Given the description of an element on the screen output the (x, y) to click on. 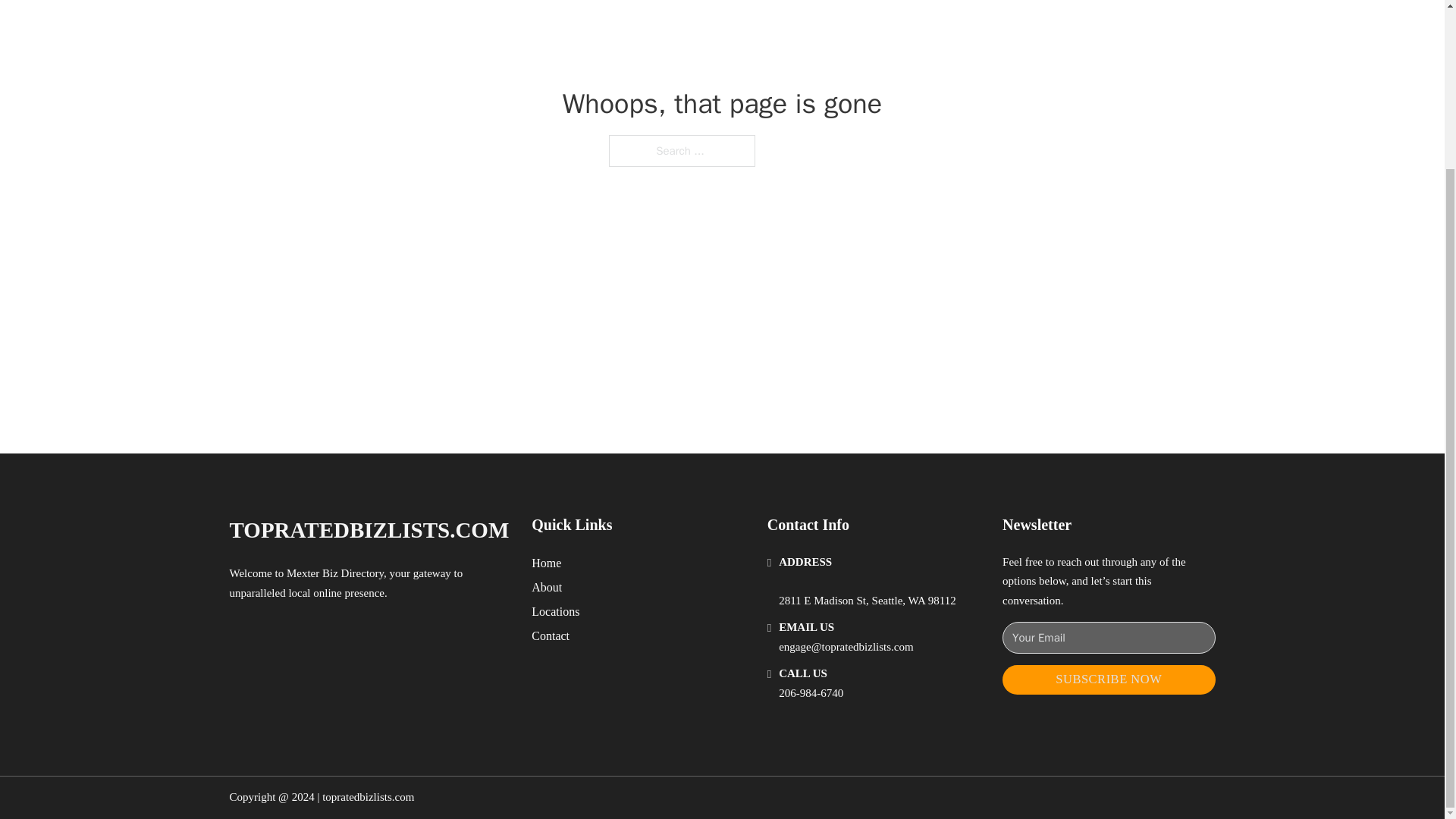
SUBSCRIBE NOW (1108, 679)
Contact (550, 635)
Locations (555, 611)
Home (545, 562)
206-984-6740 (810, 693)
TOPRATEDBIZLISTS.COM (368, 529)
About (546, 587)
